Given the description of an element on the screen output the (x, y) to click on. 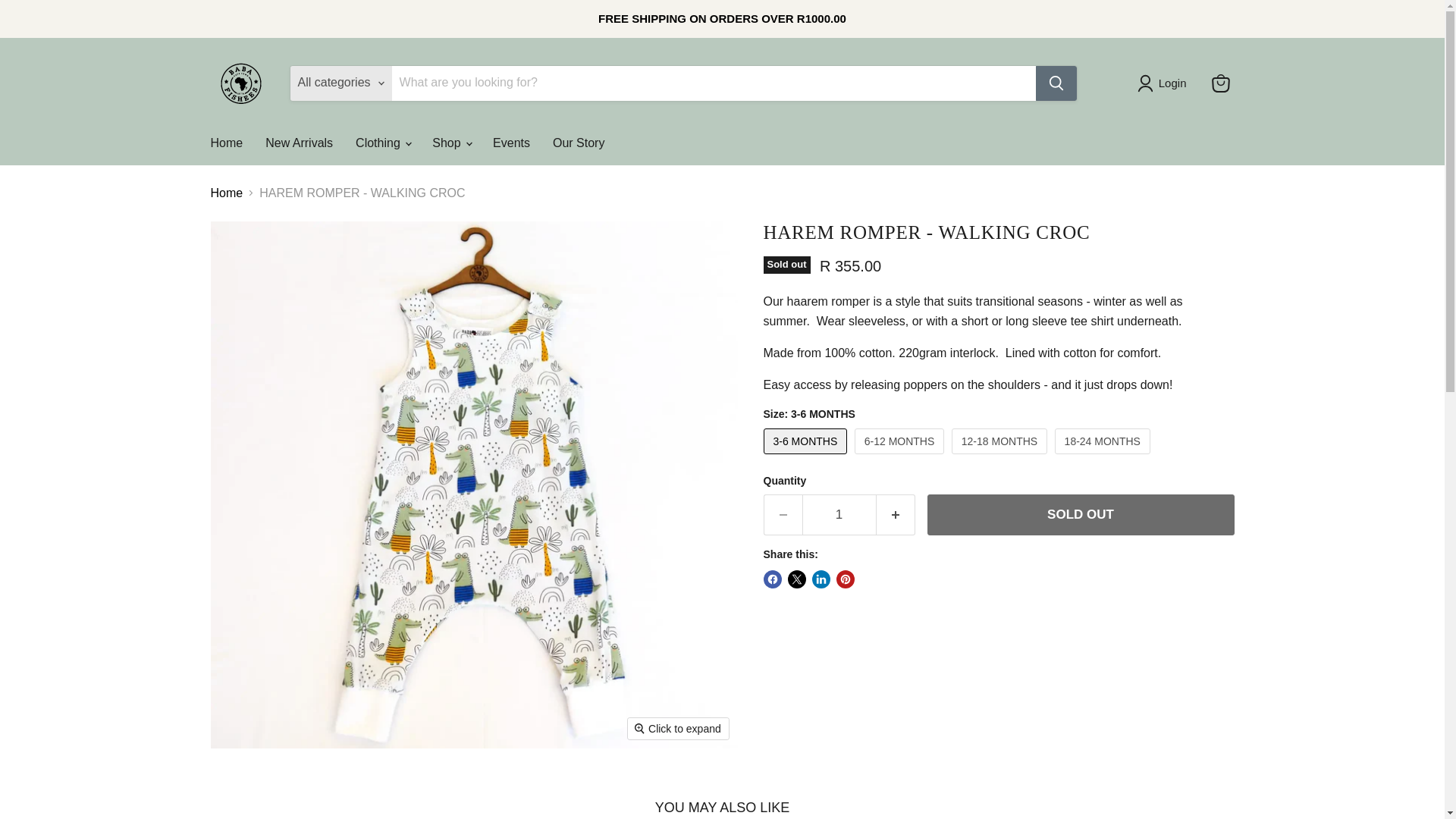
View cart (1220, 82)
New Arrivals (298, 142)
Events (511, 142)
Login (1164, 83)
Home (225, 142)
1 (839, 514)
Our Story (578, 142)
